Given the description of an element on the screen output the (x, y) to click on. 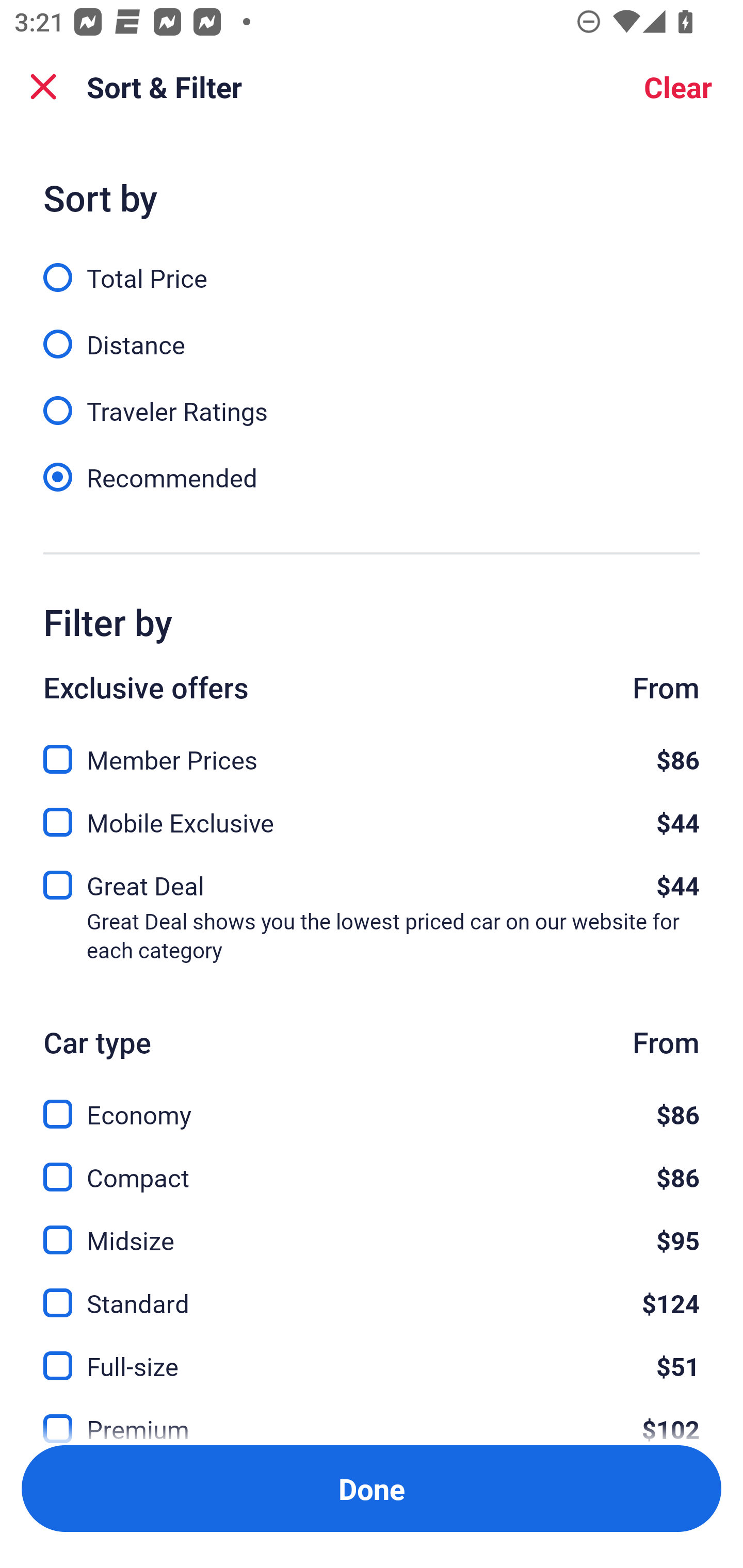
Close Sort and Filter (43, 86)
Clear (677, 86)
Total Price (371, 266)
Distance (371, 332)
Traveler Ratings (371, 399)
Member Prices, $86 Member Prices $86 (371, 747)
Mobile Exclusive, $44 Mobile Exclusive $44 (371, 816)
Economy, $86 Economy $86 (371, 1101)
Compact, $86 Compact $86 (371, 1164)
Midsize, $95 Midsize $95 (371, 1228)
Standard, $124 Standard $124 (371, 1291)
Full-size, $51 Full-size $51 (371, 1354)
Premium, $102 Premium $102 (371, 1415)
Apply and close Sort and Filter Done (371, 1488)
